Given the description of an element on the screen output the (x, y) to click on. 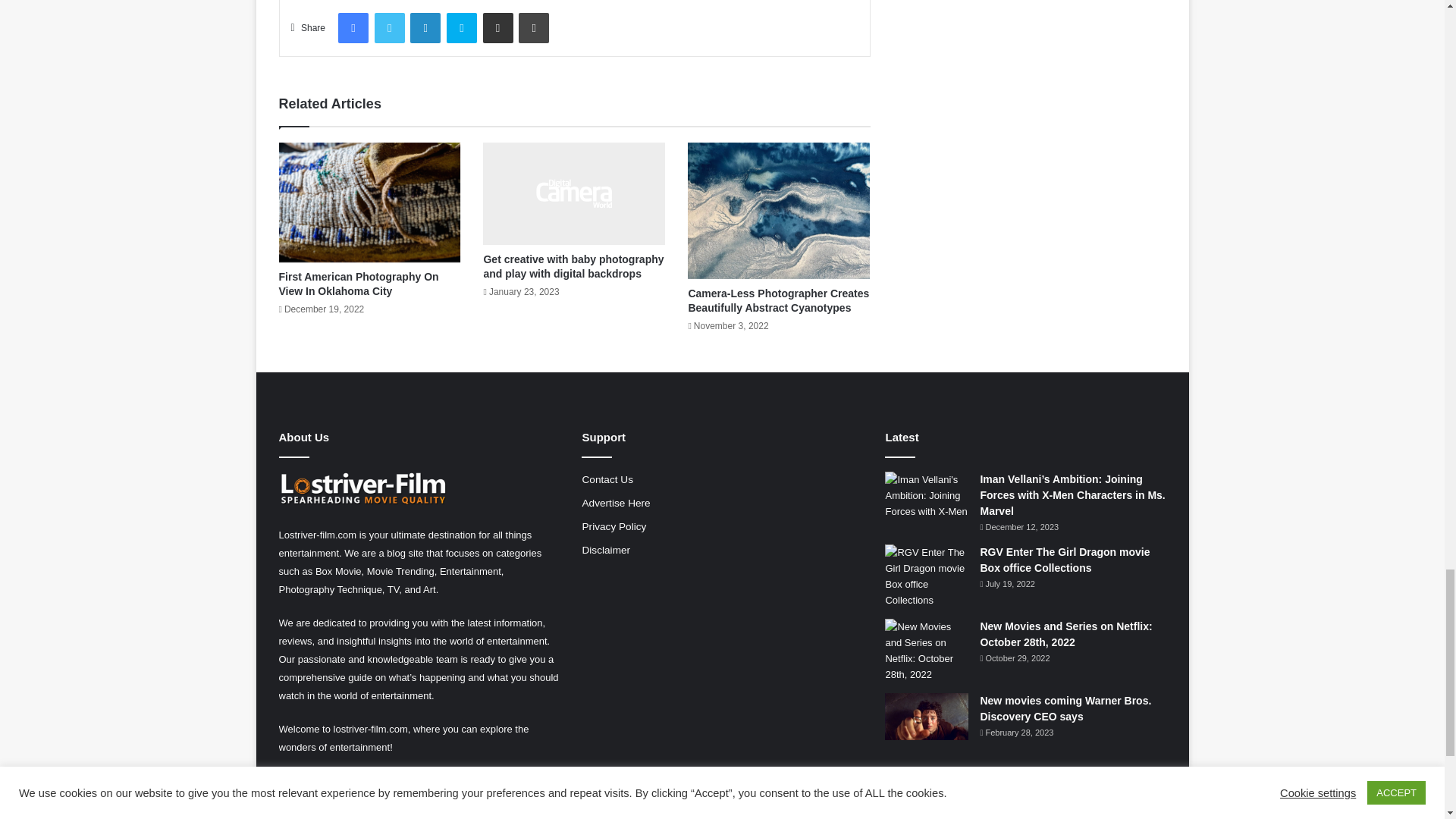
Skype (461, 28)
Facebook (352, 28)
Twitter (389, 28)
First American Photography On View In Oklahoma City (359, 284)
Print (533, 28)
Share via Email (496, 28)
Skype (461, 28)
